Given the description of an element on the screen output the (x, y) to click on. 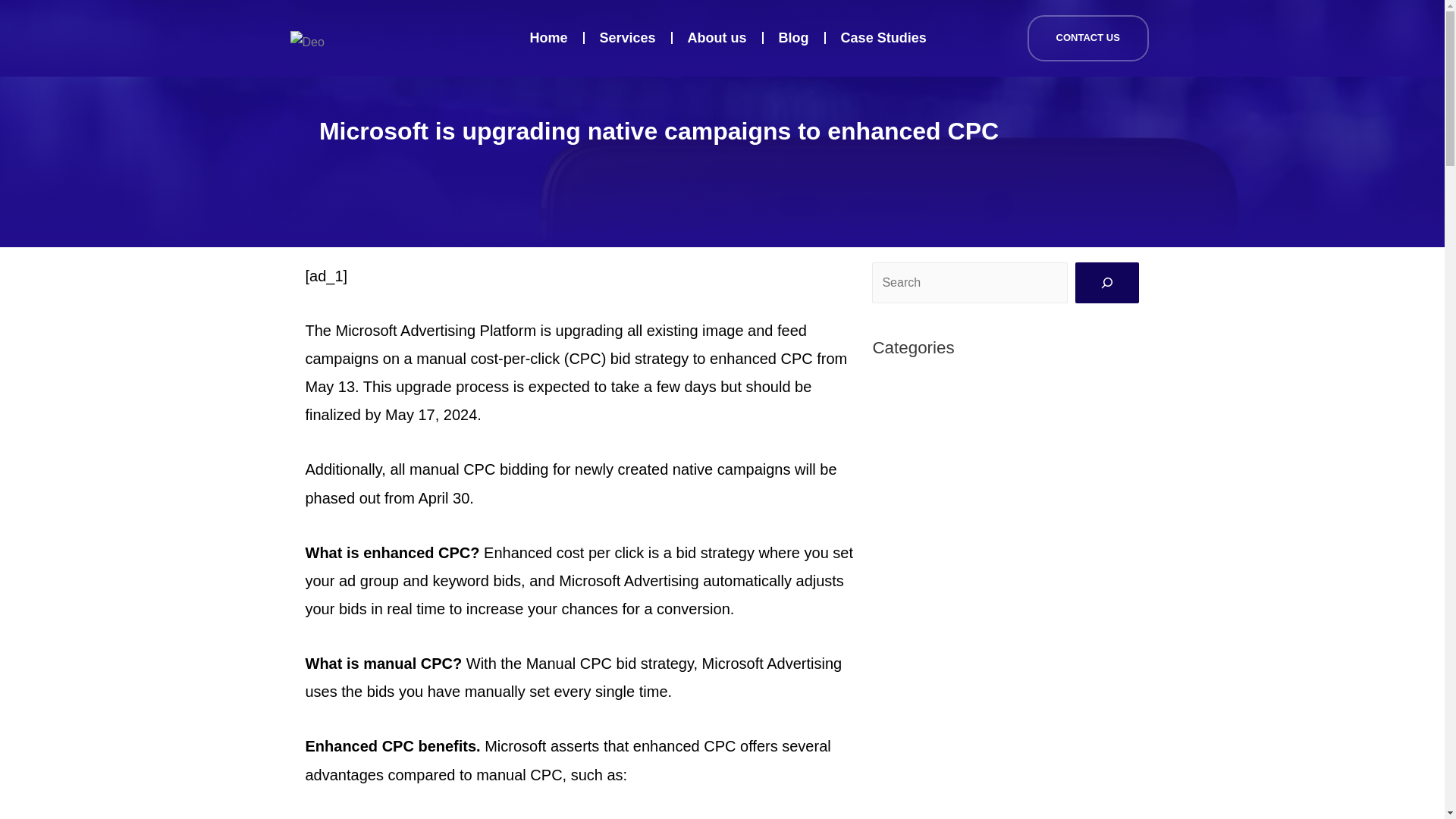
CONTACT US (1087, 38)
About us (716, 37)
Blog (793, 37)
Case Studies (883, 37)
Home (549, 37)
Services (628, 37)
